Given the description of an element on the screen output the (x, y) to click on. 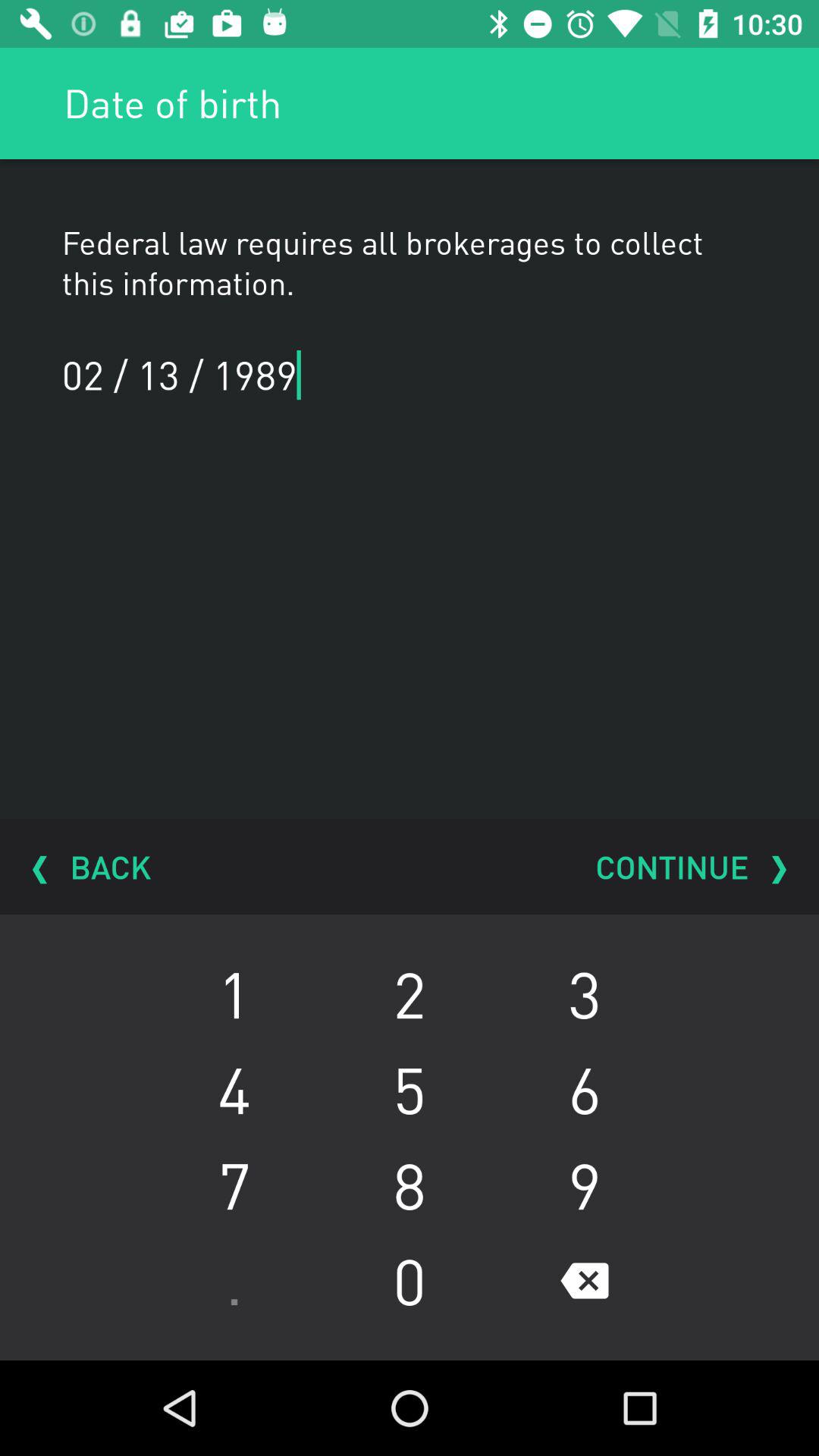
open icon below the 5 item (584, 1185)
